Given the description of an element on the screen output the (x, y) to click on. 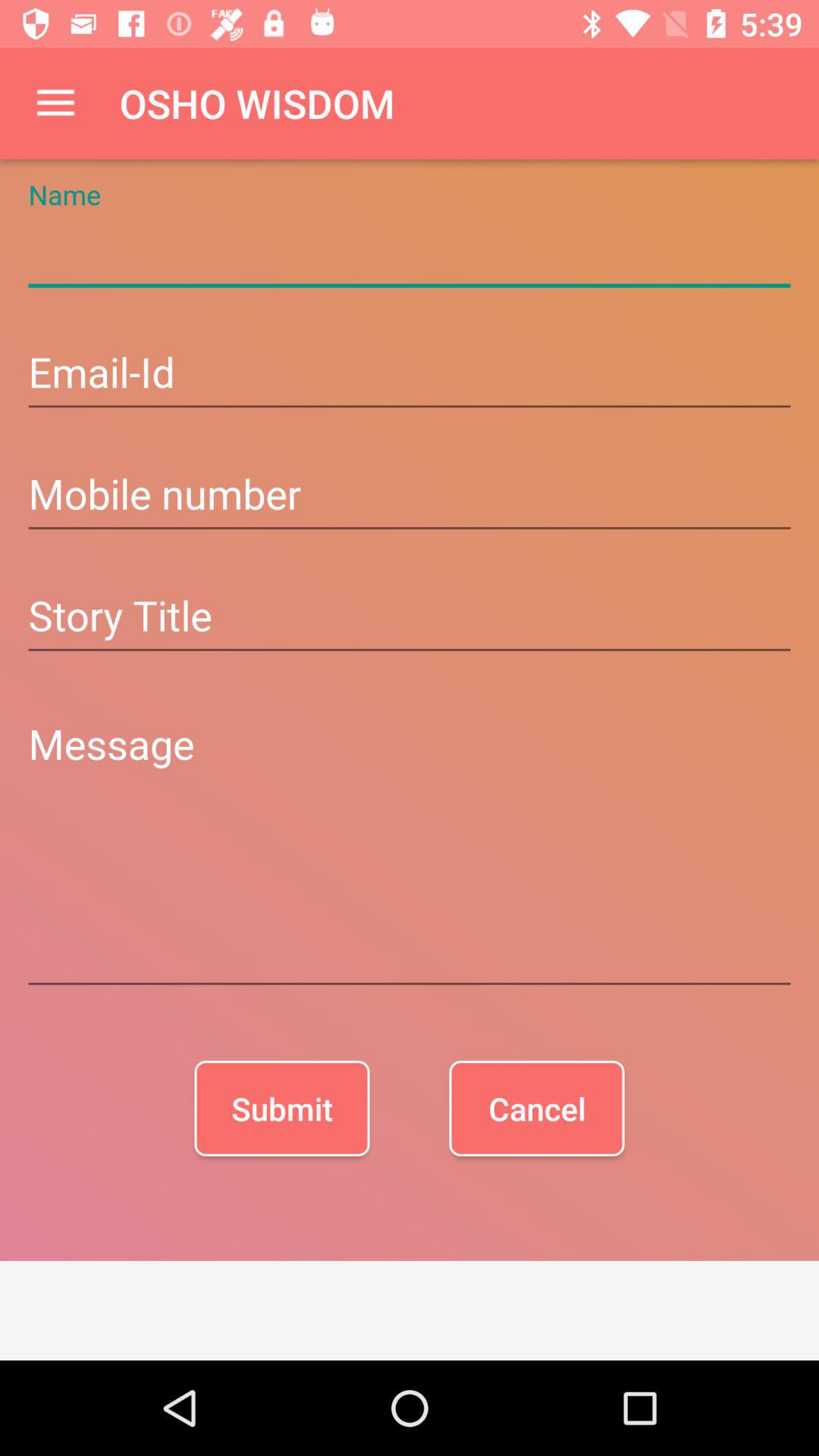
enter mobile number (409, 496)
